Given the description of an element on the screen output the (x, y) to click on. 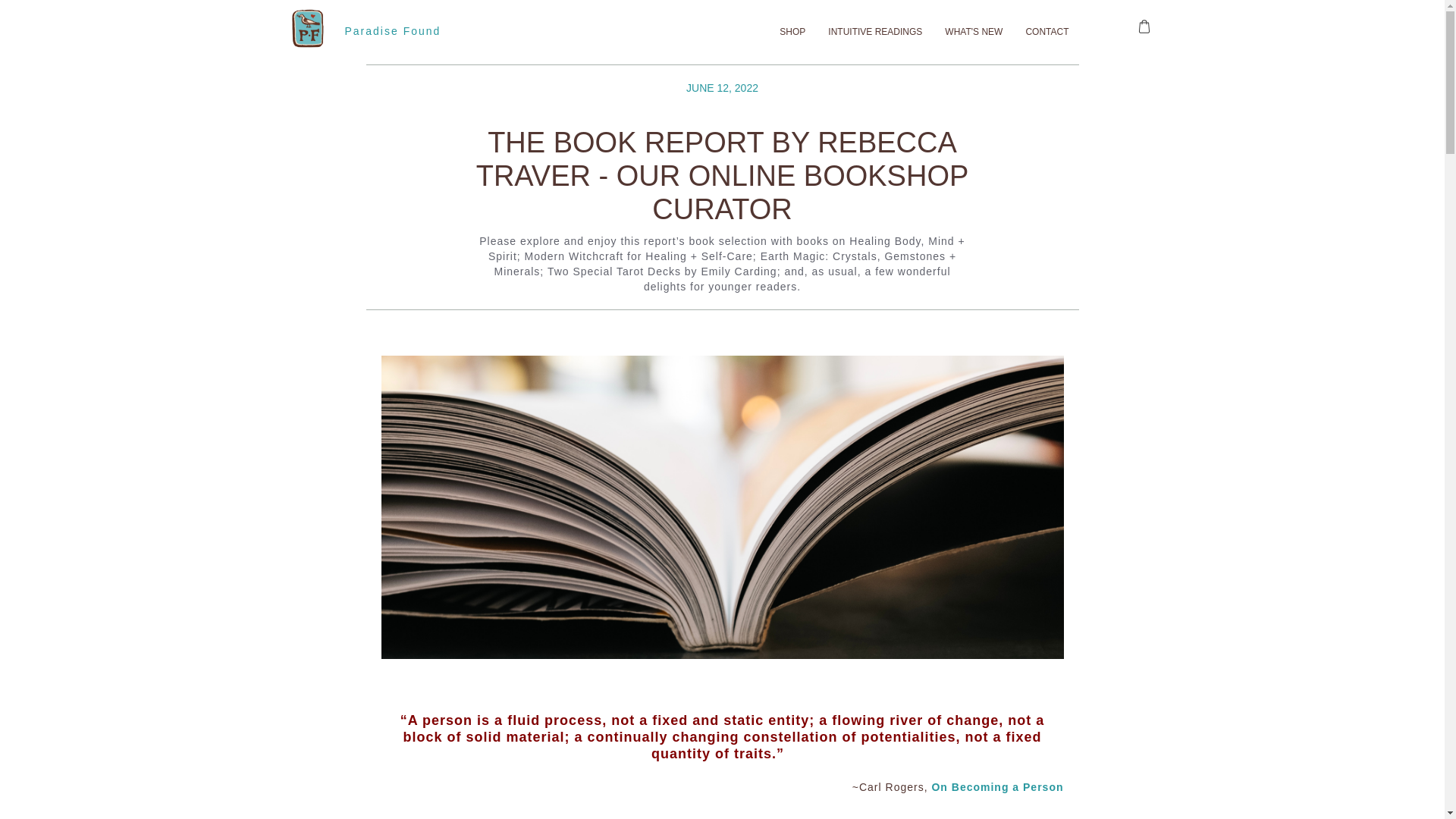
INTUITIVE READINGS (875, 32)
On Becoming a Person (996, 787)
Search (28, 14)
Paradise Found (389, 32)
